Given the description of an element on the screen output the (x, y) to click on. 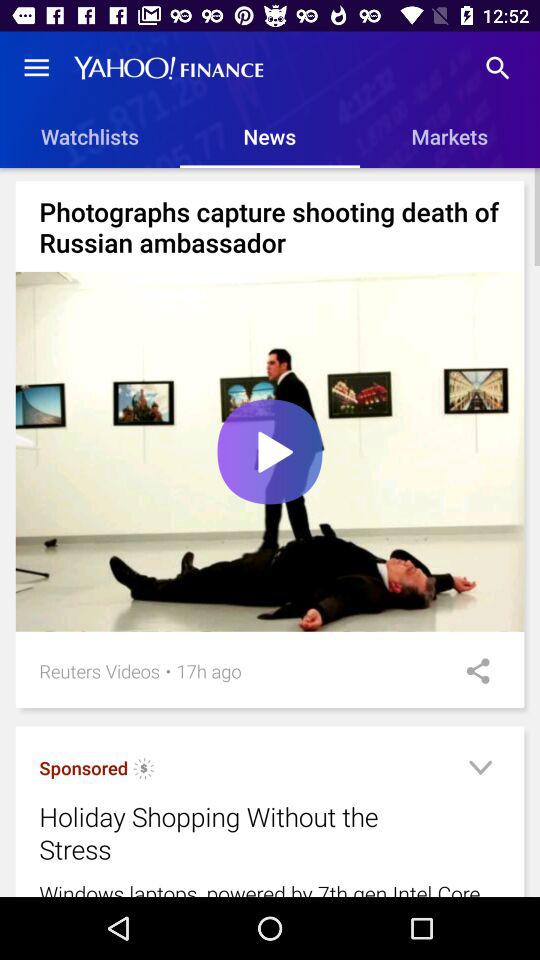
choose item above the watchlists (36, 68)
